Given the description of an element on the screen output the (x, y) to click on. 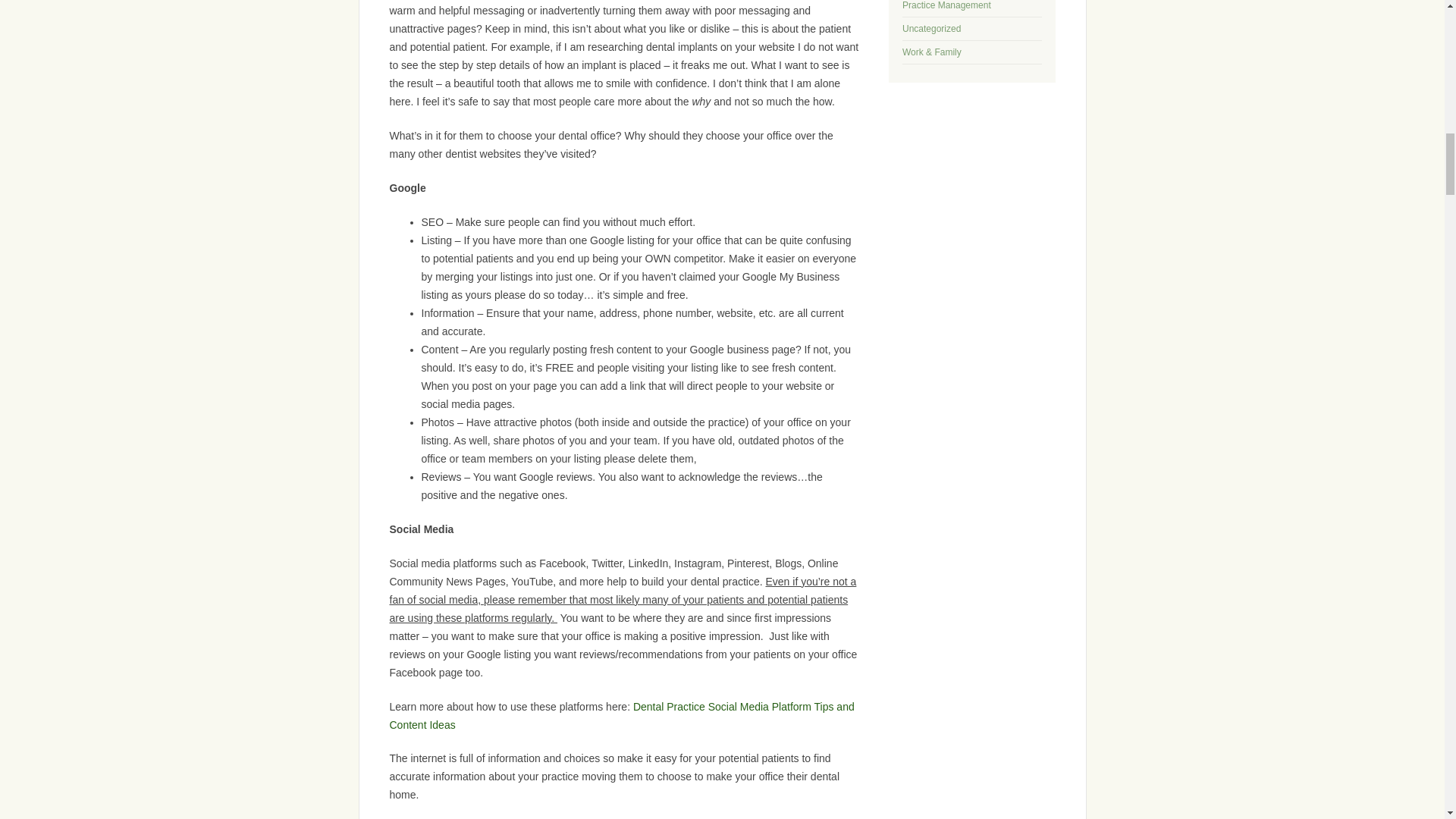
Dental Practice Social Media Platform Tips and Content Ideas (622, 716)
